Given the description of an element on the screen output the (x, y) to click on. 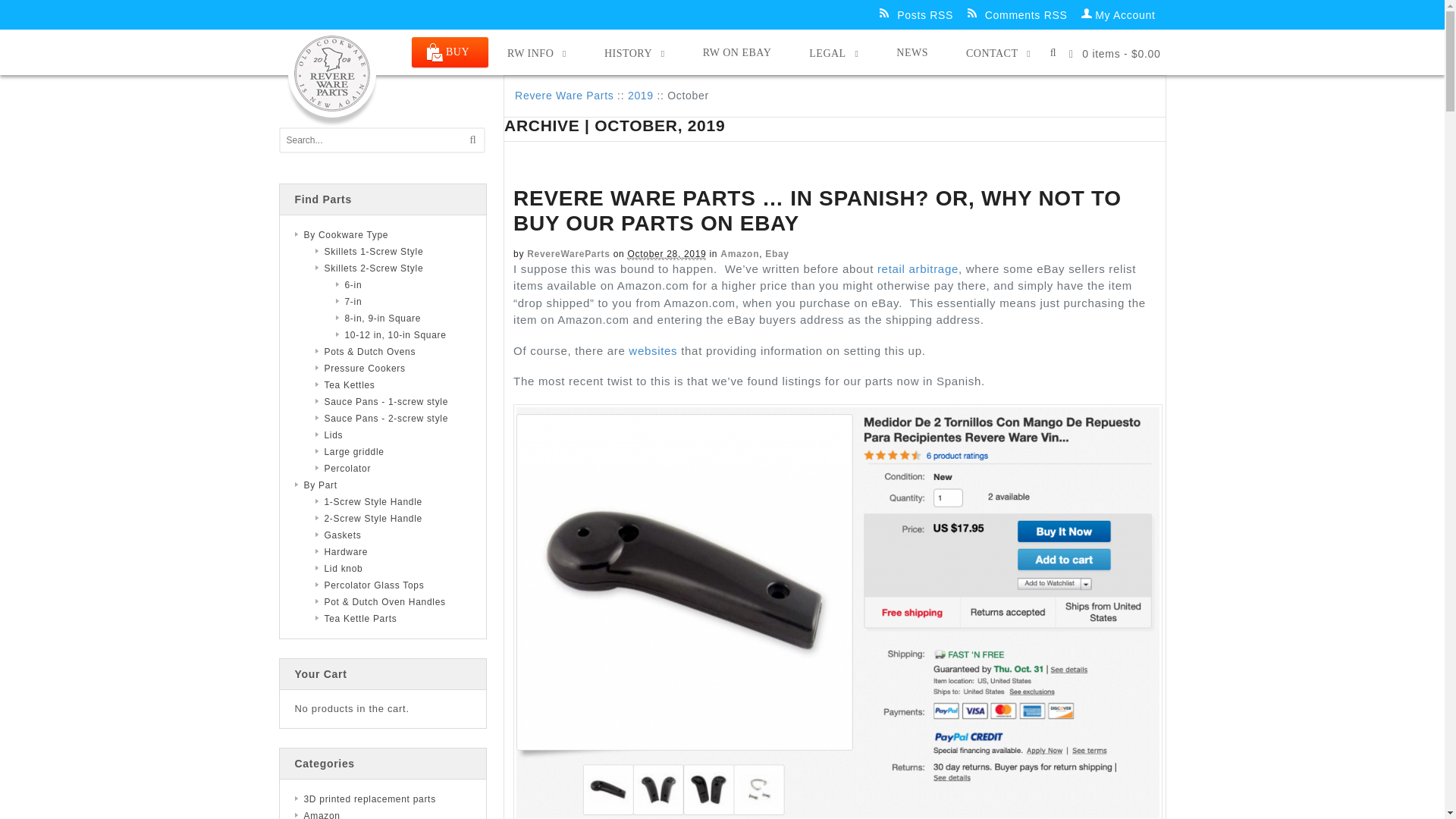
LEGAL (833, 52)
Comments RSS (1023, 14)
RevereWareParts (568, 253)
View your shopping cart (1115, 52)
Posts RSS (921, 14)
Search... (373, 139)
View all items in Ebay (777, 253)
Posts by RevereWareParts (568, 253)
NEWS (912, 52)
HISTORY (634, 52)
Search (1050, 78)
RW ON EBAY (737, 52)
2019-10-28T08:48:48-0700 (666, 254)
BUY (449, 51)
Revere Ware Parts (563, 95)
